Given the description of an element on the screen output the (x, y) to click on. 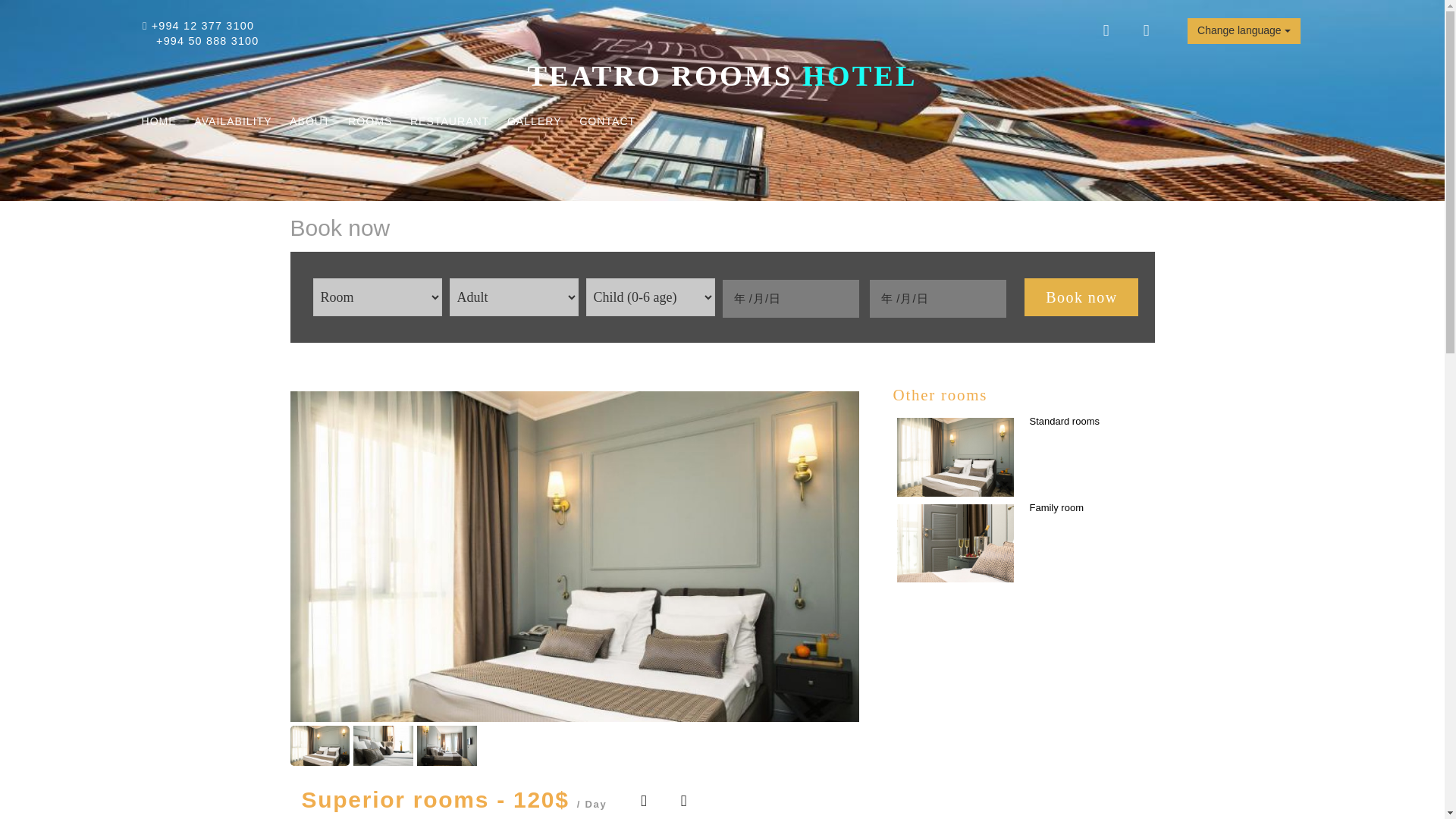
GALLERY (534, 120)
Book now (1081, 297)
ABOUT (309, 120)
GALLERY (534, 120)
TEATRO ROOMS HOTEL (722, 75)
HOME (158, 120)
ROOMS (369, 120)
Book now (1081, 297)
HOME (158, 120)
ABOUT (309, 120)
